Given the description of an element on the screen output the (x, y) to click on. 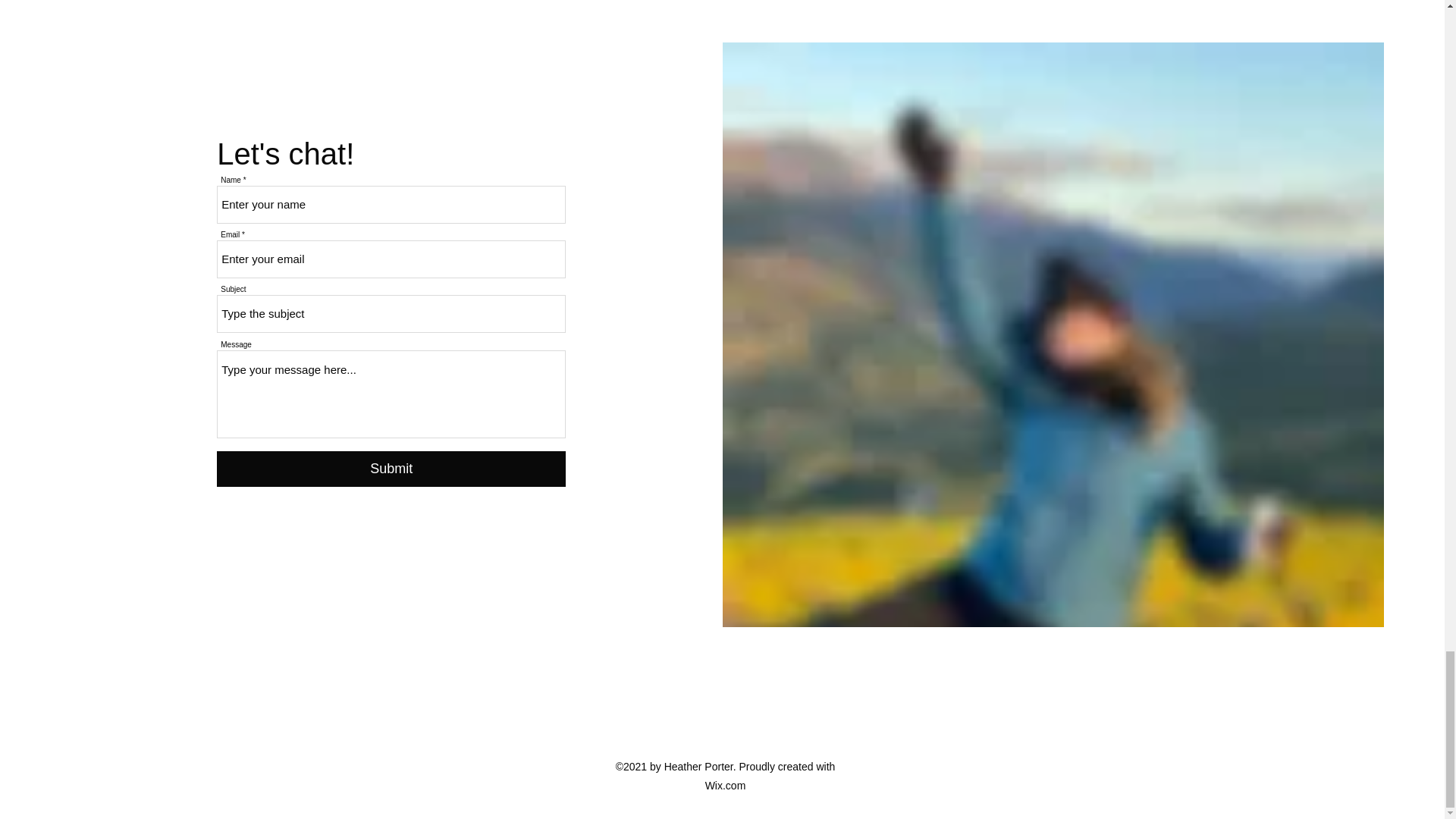
Submit (391, 468)
